Given the description of an element on the screen output the (x, y) to click on. 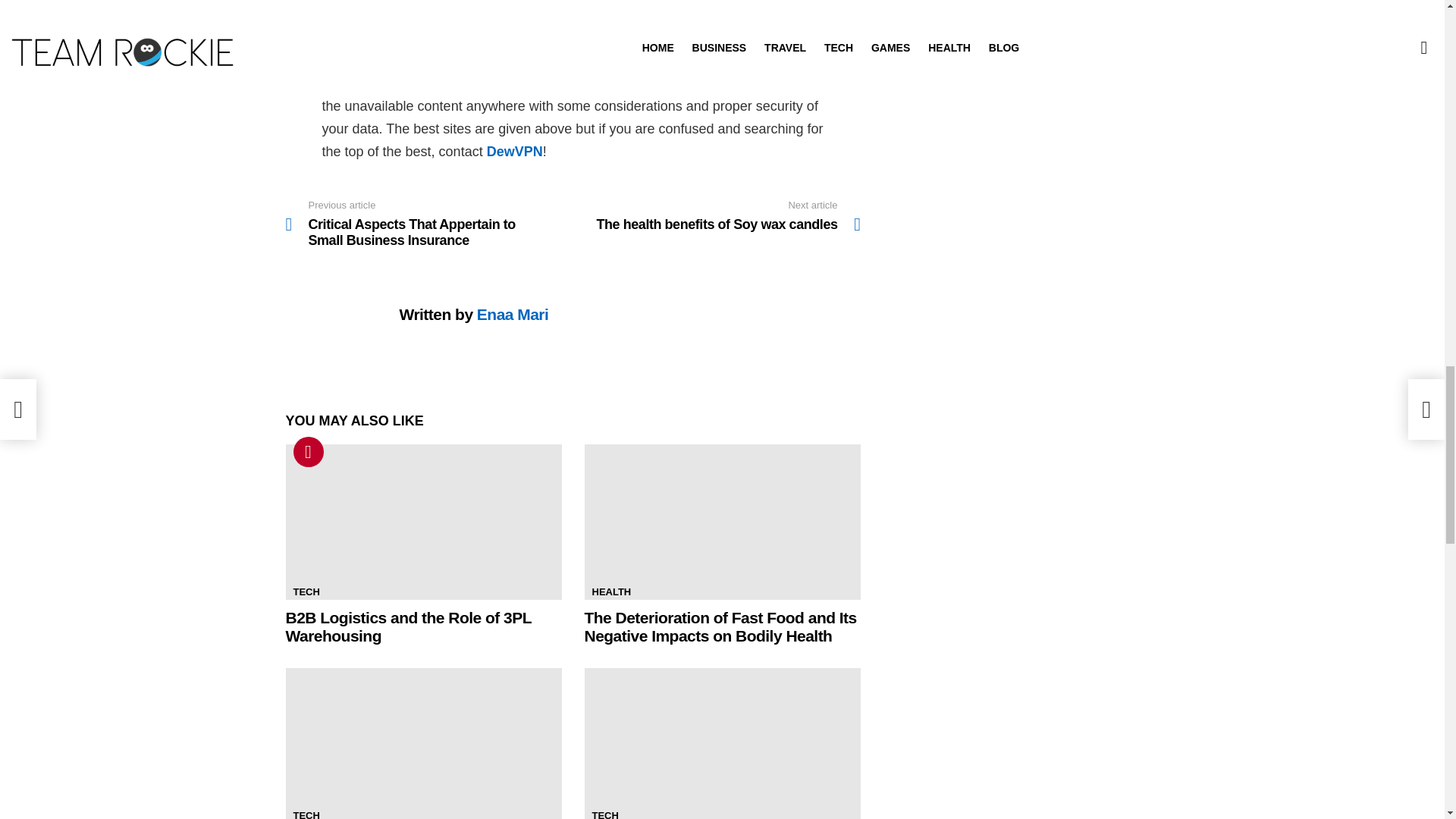
free VPN (512, 83)
B2B Logistics and the Role of 3PL Warehousing (408, 626)
Enaa Mari (512, 313)
HEALTH (716, 215)
Trending (611, 591)
TECH (307, 451)
B2B Logistics and the Role of 3PL Warehousing (604, 813)
TECH (422, 521)
TECH (305, 591)
